Given the description of an element on the screen output the (x, y) to click on. 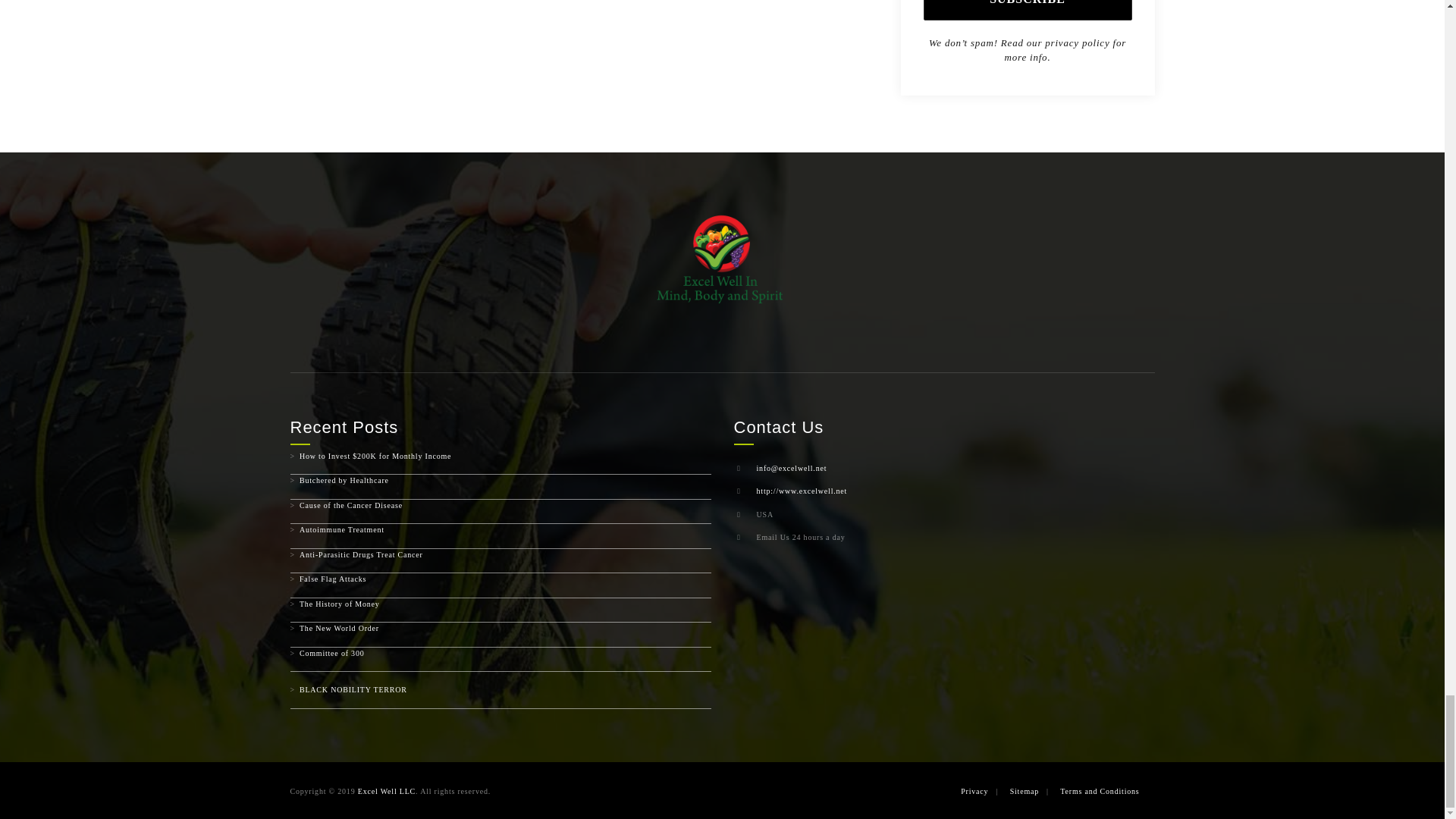
SUBSCRIBE (1027, 10)
